Given the description of an element on the screen output the (x, y) to click on. 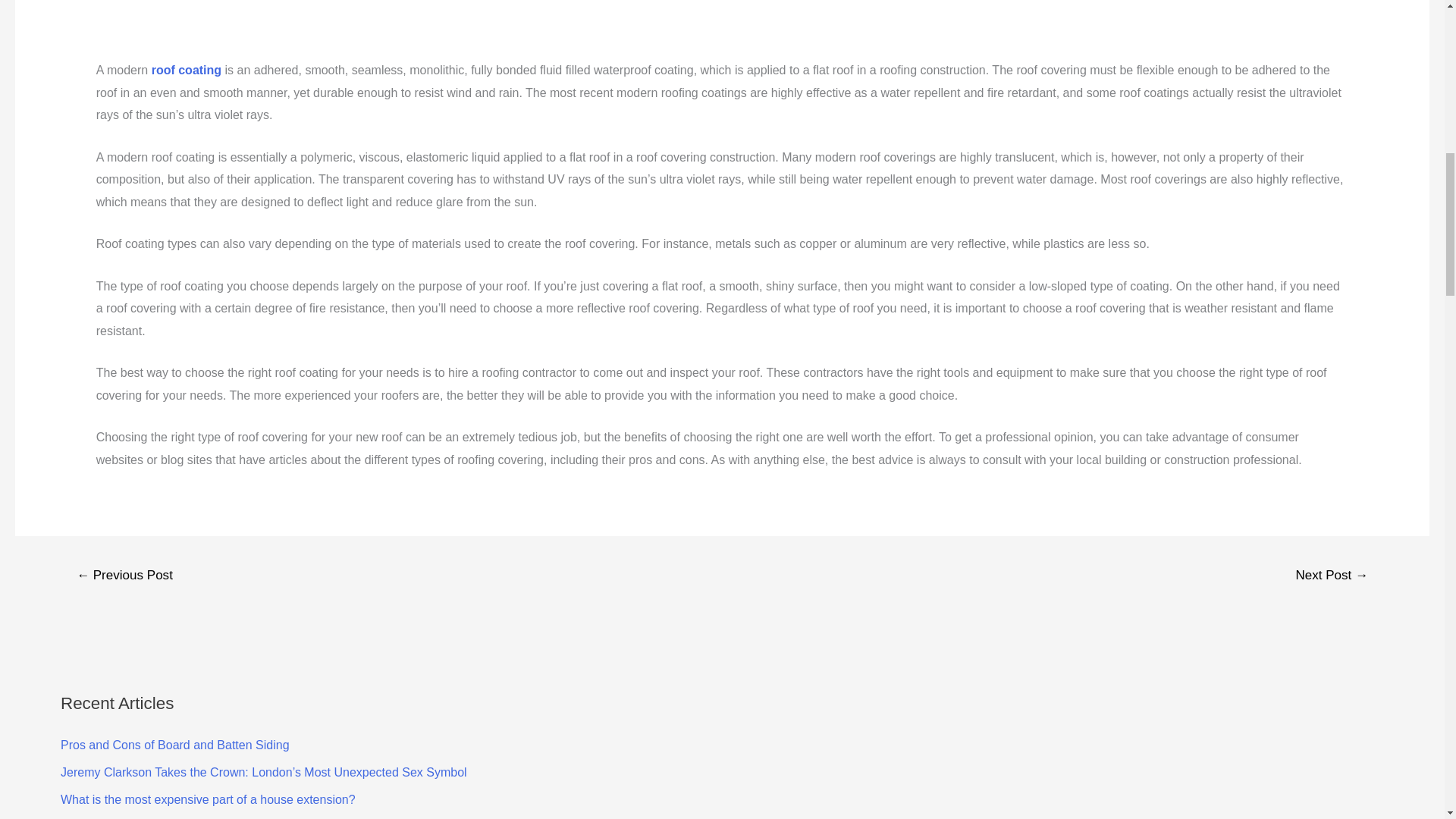
roof coating (186, 69)
What is the most expensive part of a house extension? (208, 799)
Pros and Cons of Board and Batten Siding (175, 744)
